Given the description of an element on the screen output the (x, y) to click on. 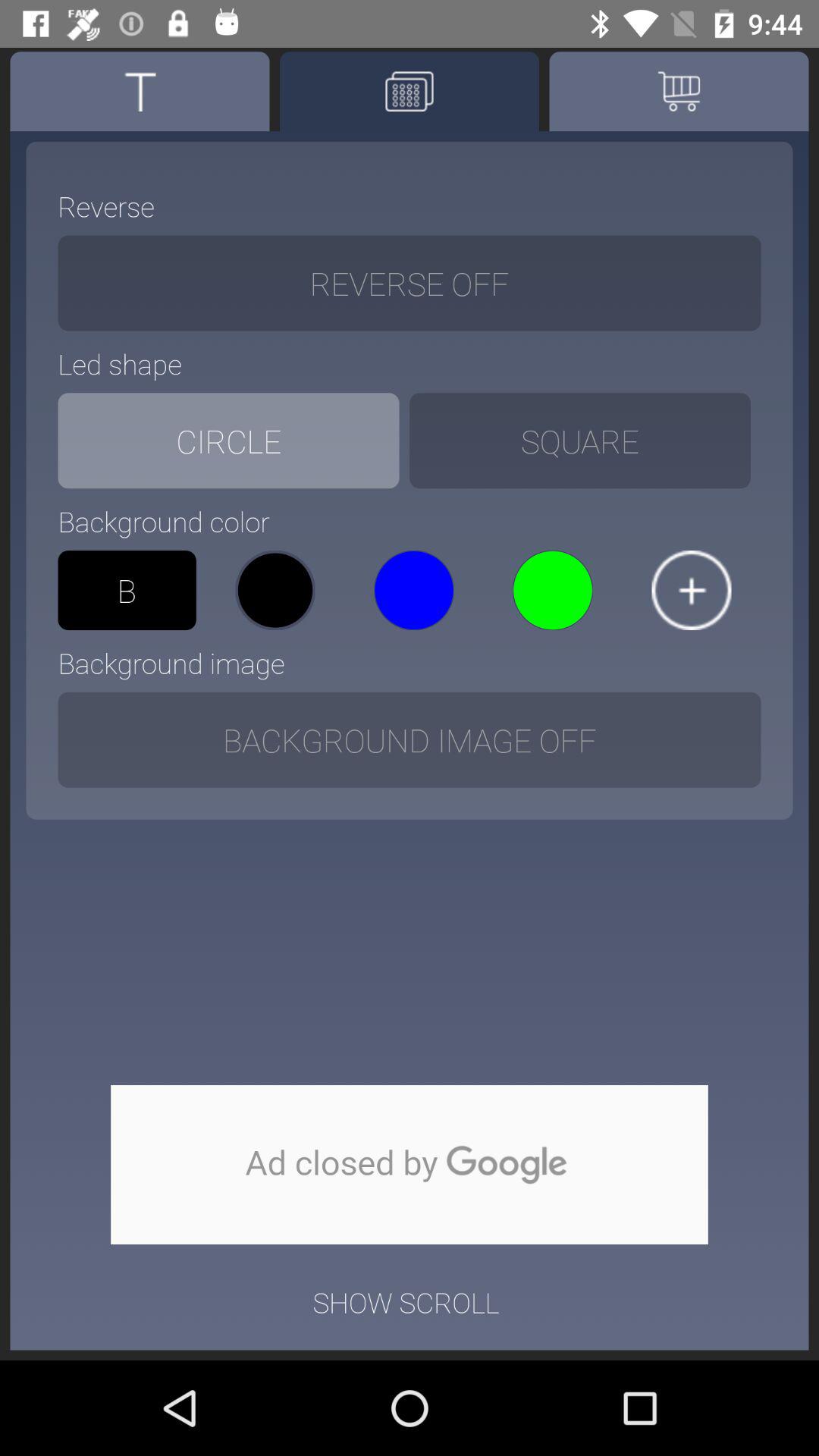
show the advertisement (409, 1164)
